Given the description of an element on the screen output the (x, y) to click on. 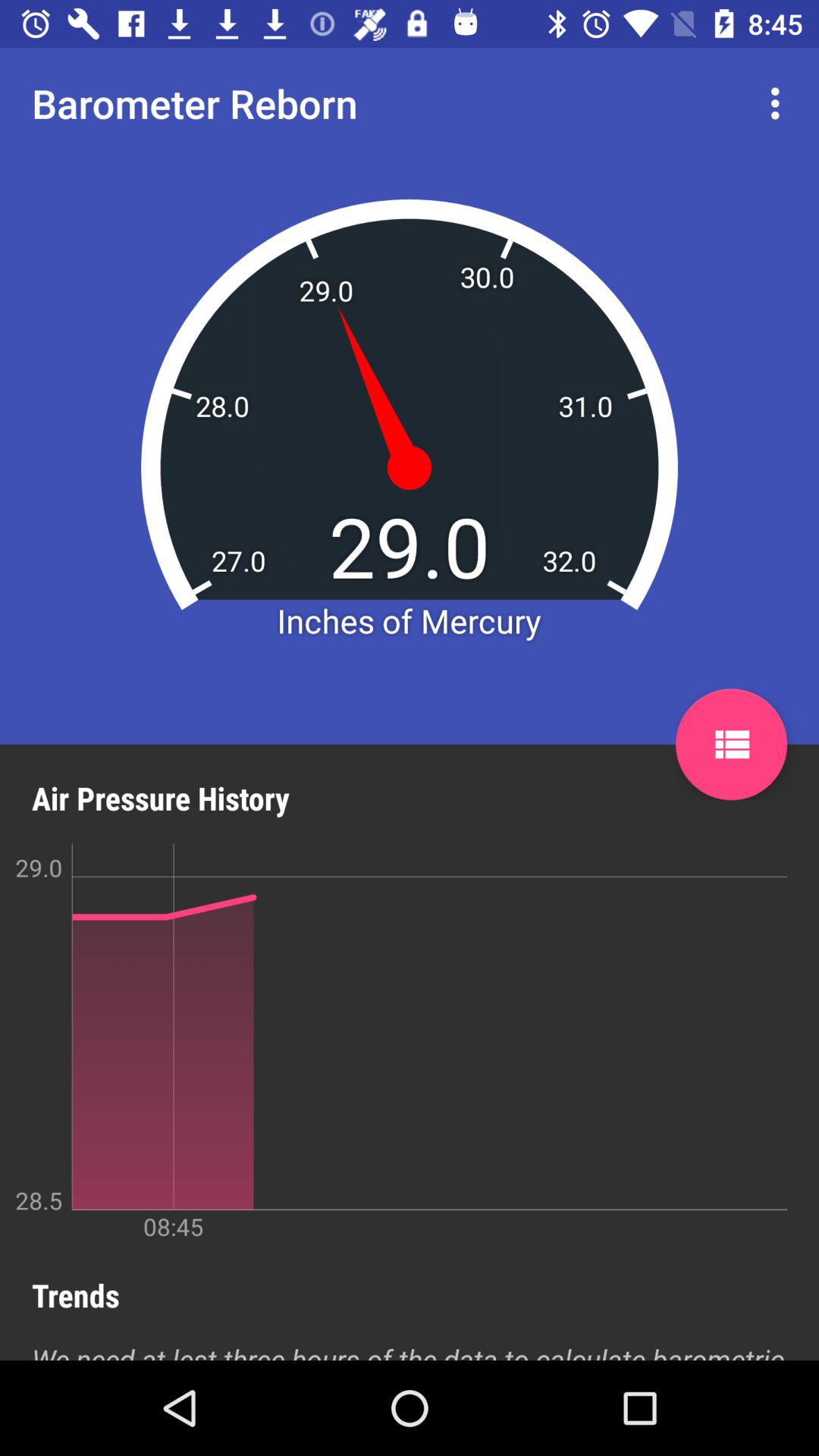
tap the icon to the right of the barometer reborn icon (779, 103)
